Given the description of an element on the screen output the (x, y) to click on. 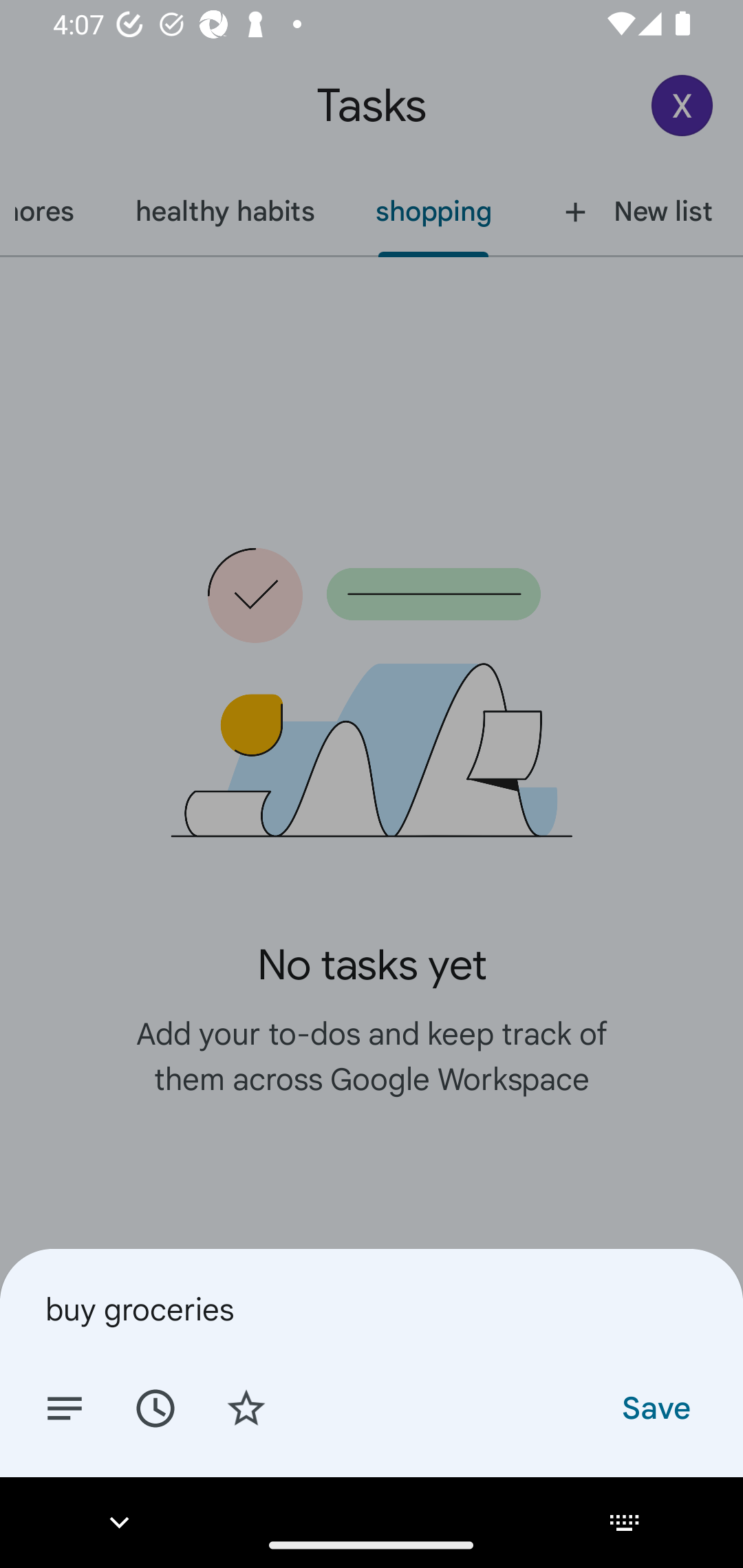
buy groceries (371, 1308)
Save (655, 1407)
Add details (64, 1407)
Set date/time (154, 1407)
Add star (245, 1407)
